Given the description of an element on the screen output the (x, y) to click on. 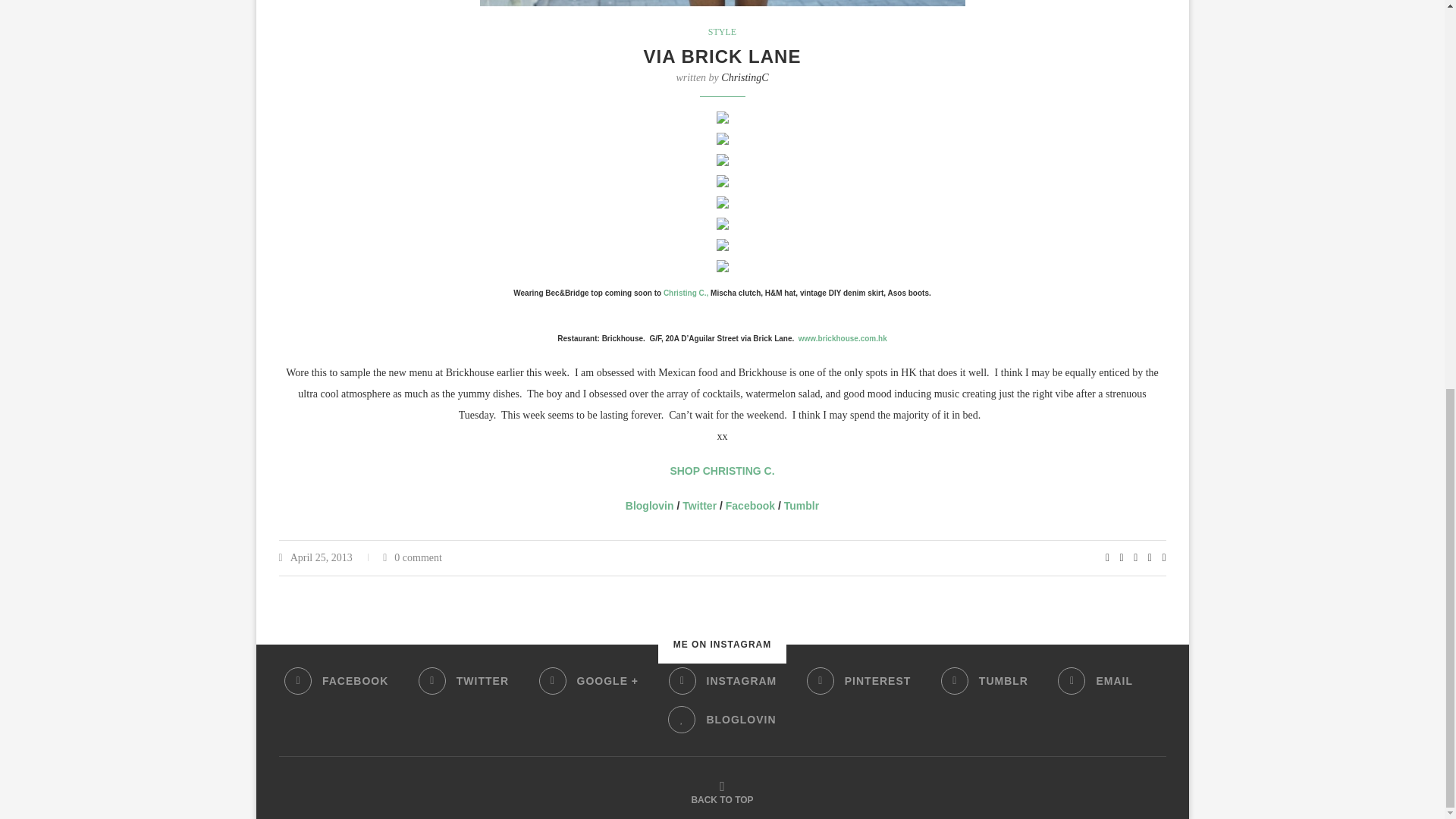
VIA BRICK LANE (722, 55)
View all posts in Style (721, 31)
ChristingC (744, 77)
STYLE (721, 31)
